Given the description of an element on the screen output the (x, y) to click on. 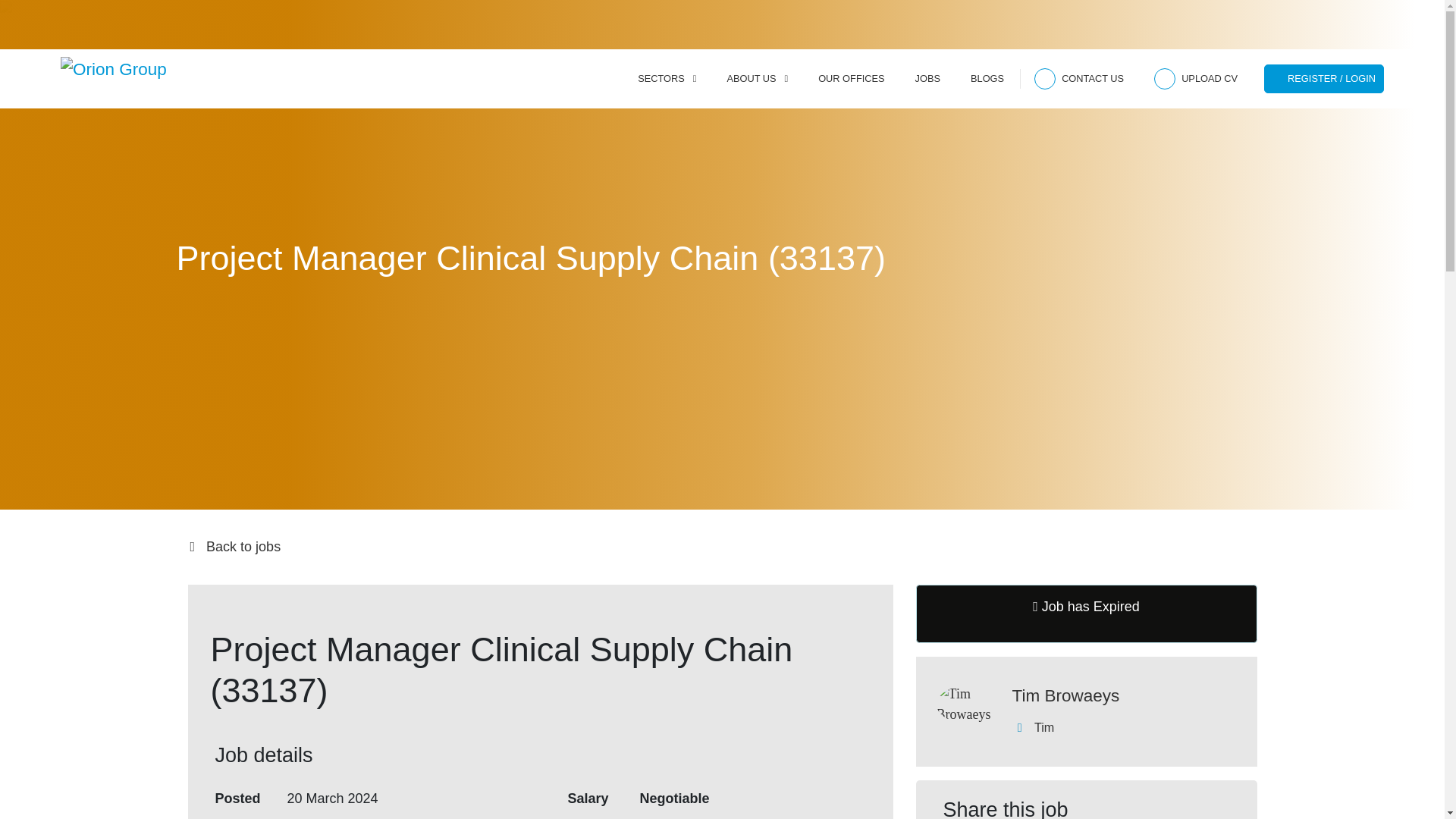
SECTORS (666, 78)
ABOUT US (756, 78)
